Given the description of an element on the screen output the (x, y) to click on. 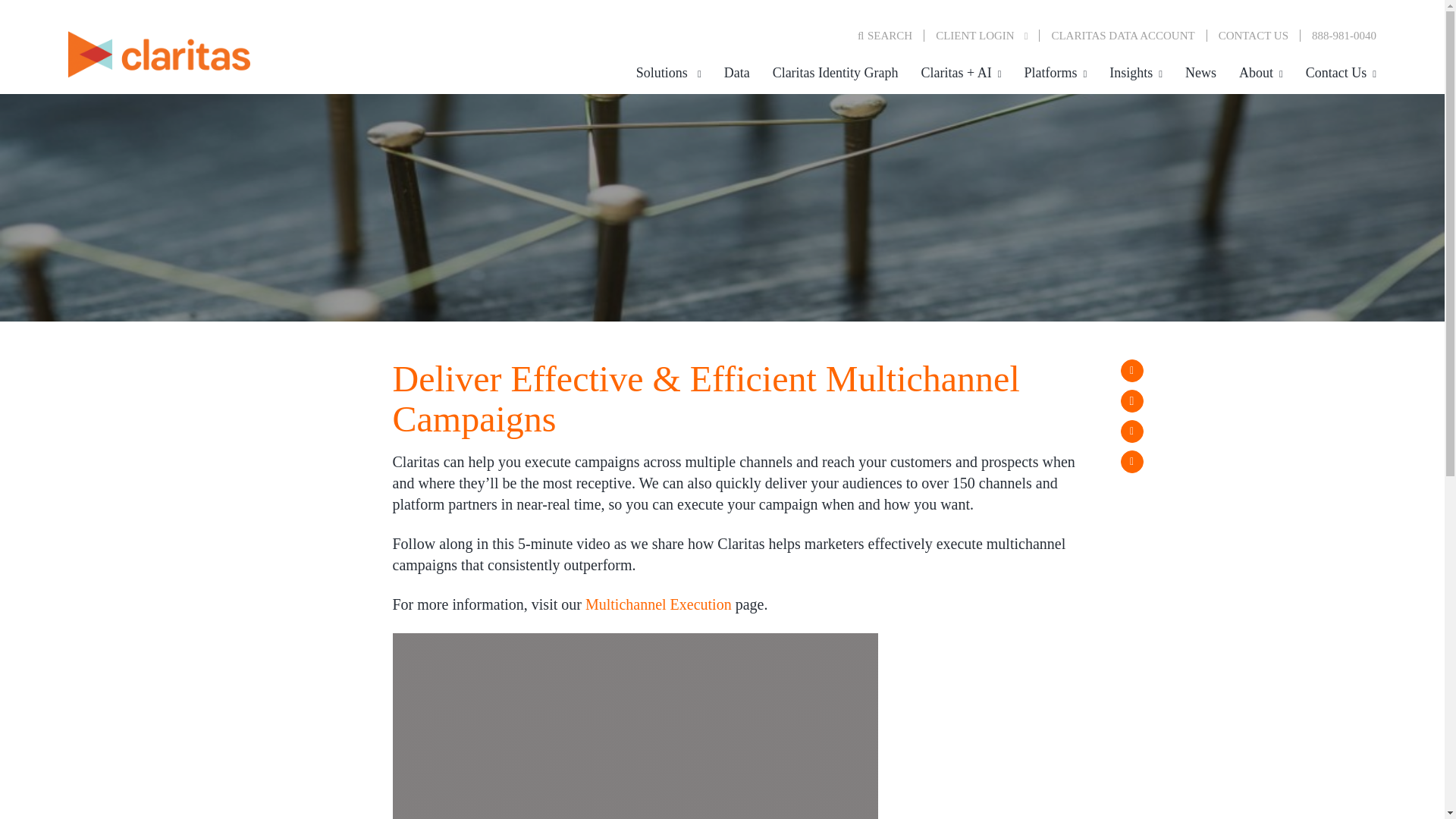
CONTACT US (1253, 35)
linkedin (1131, 431)
Claritas Identity Graph (835, 72)
twitter (1131, 400)
email (1131, 461)
CLARITAS DATA ACCOUNT (1123, 35)
facebook (1131, 370)
Solutions (668, 72)
CLIENT LOGIN (987, 35)
888-981-0040 (1337, 35)
